Given the description of an element on the screen output the (x, y) to click on. 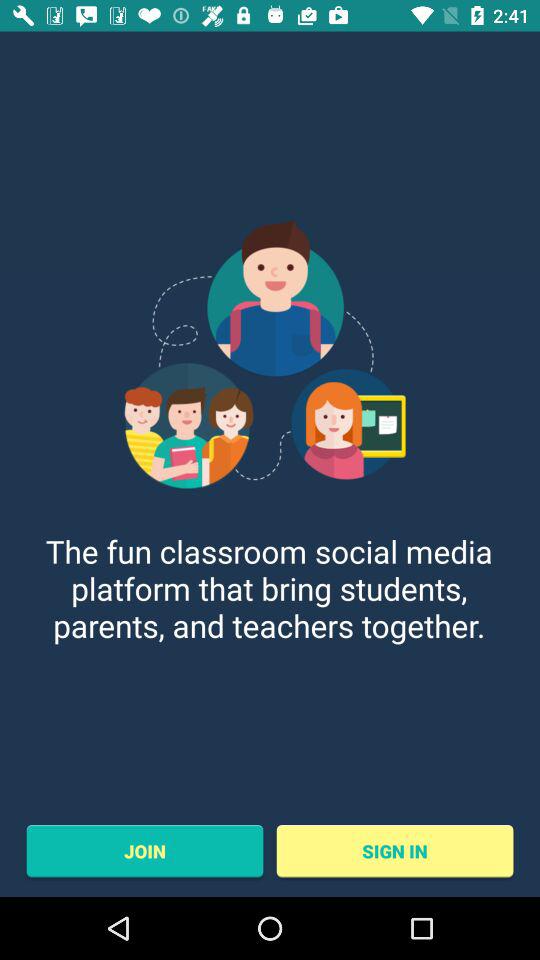
select join (144, 851)
